Given the description of an element on the screen output the (x, y) to click on. 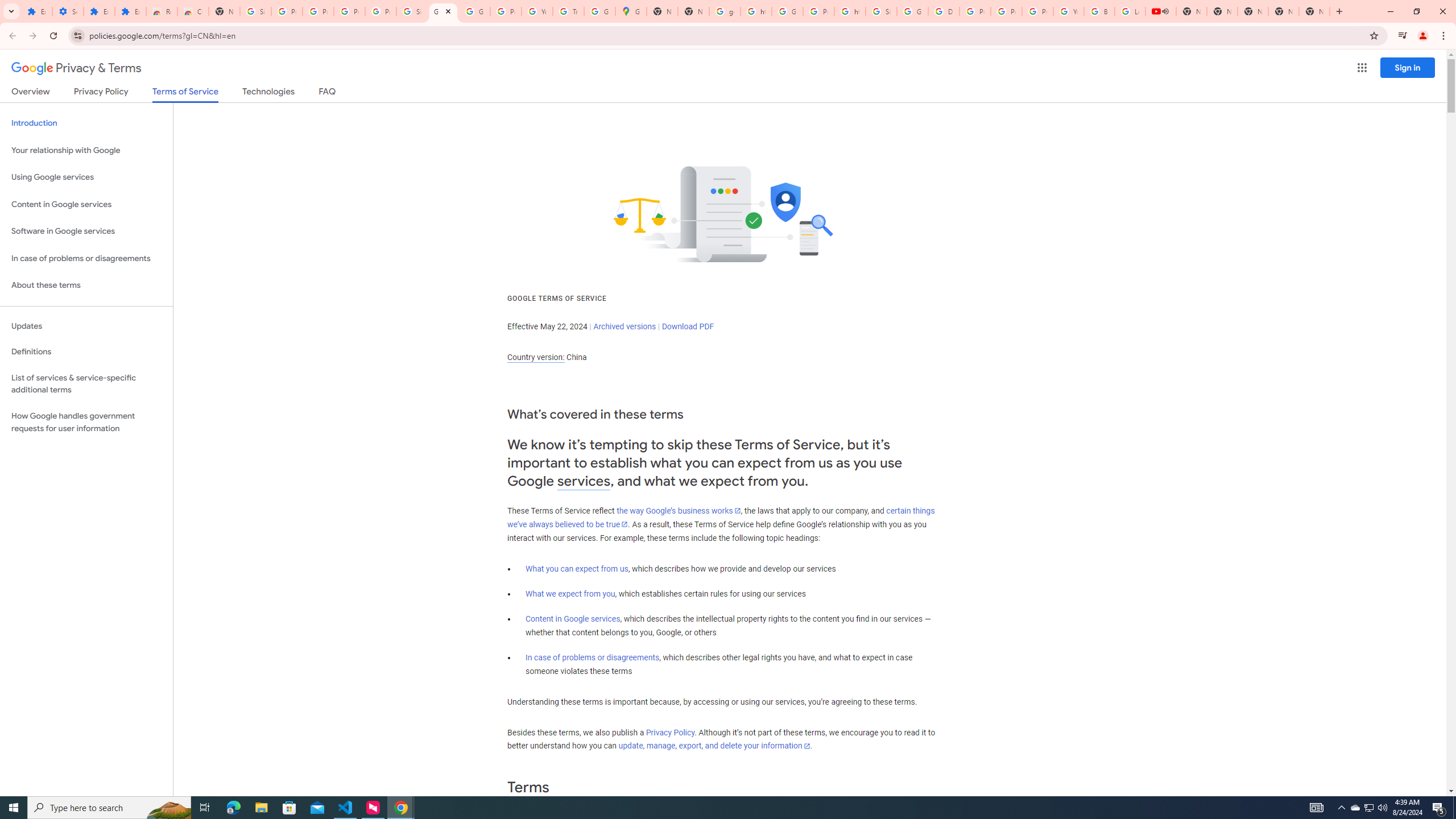
Google Maps (631, 11)
List of services & service-specific additional terms (86, 383)
Download PDF (687, 326)
Settings (67, 11)
Reviews: Helix Fruit Jump Arcade Game (161, 11)
Updates (86, 325)
